Given the description of an element on the screen output the (x, y) to click on. 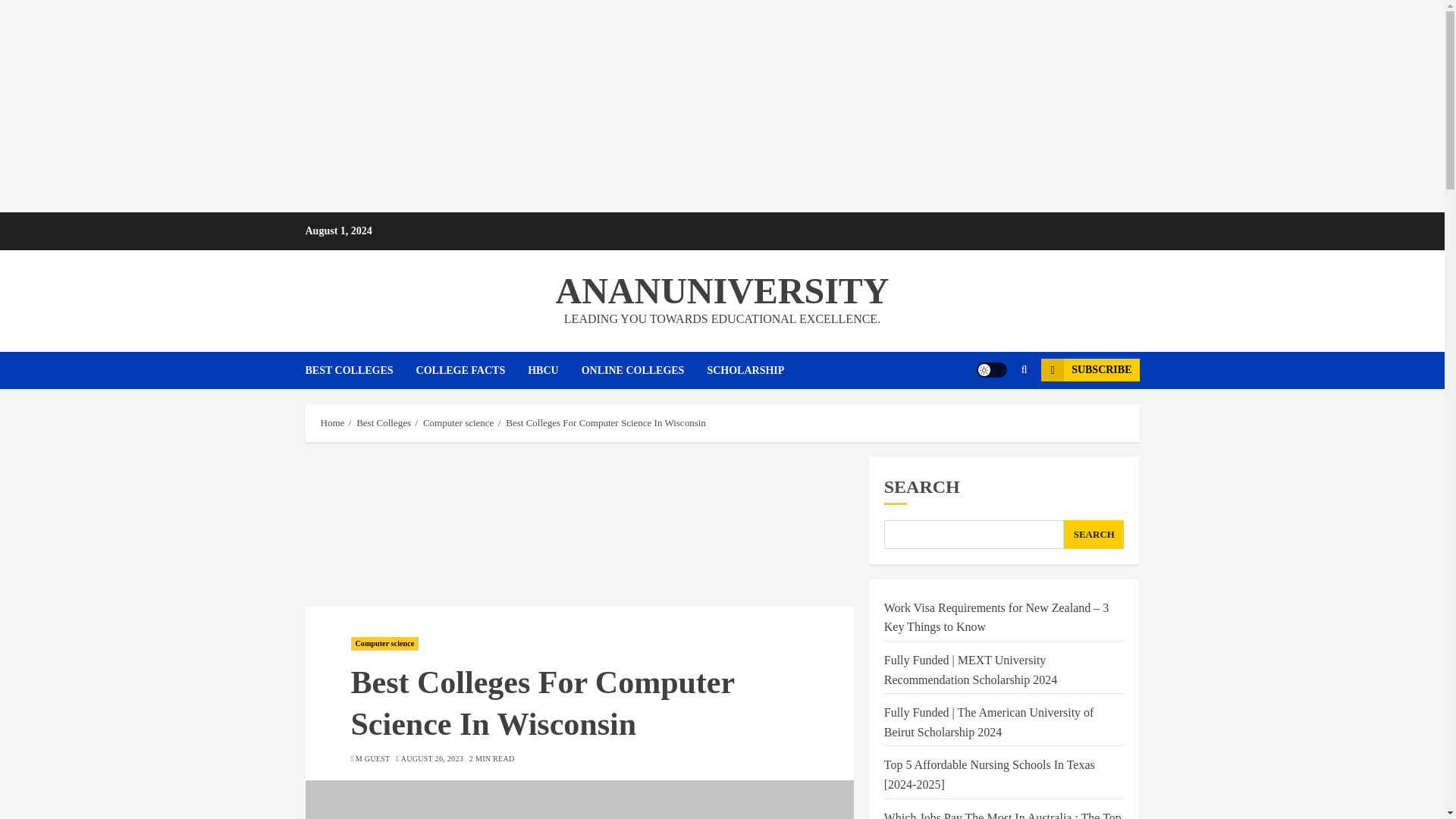
ONLINE COLLEGES (643, 370)
M GUEST (372, 758)
BEST COLLEGES (359, 370)
ANANUNIVERSITY (721, 291)
Search (994, 416)
AUGUST 26, 2023 (432, 758)
SCHOLARSHIP (745, 370)
Computer science (384, 643)
SUBSCRIBE (1089, 369)
Advertisement (579, 531)
Home (331, 422)
Computer science (459, 422)
COLLEGE FACTS (472, 370)
Best Colleges (383, 422)
